Given the description of an element on the screen output the (x, y) to click on. 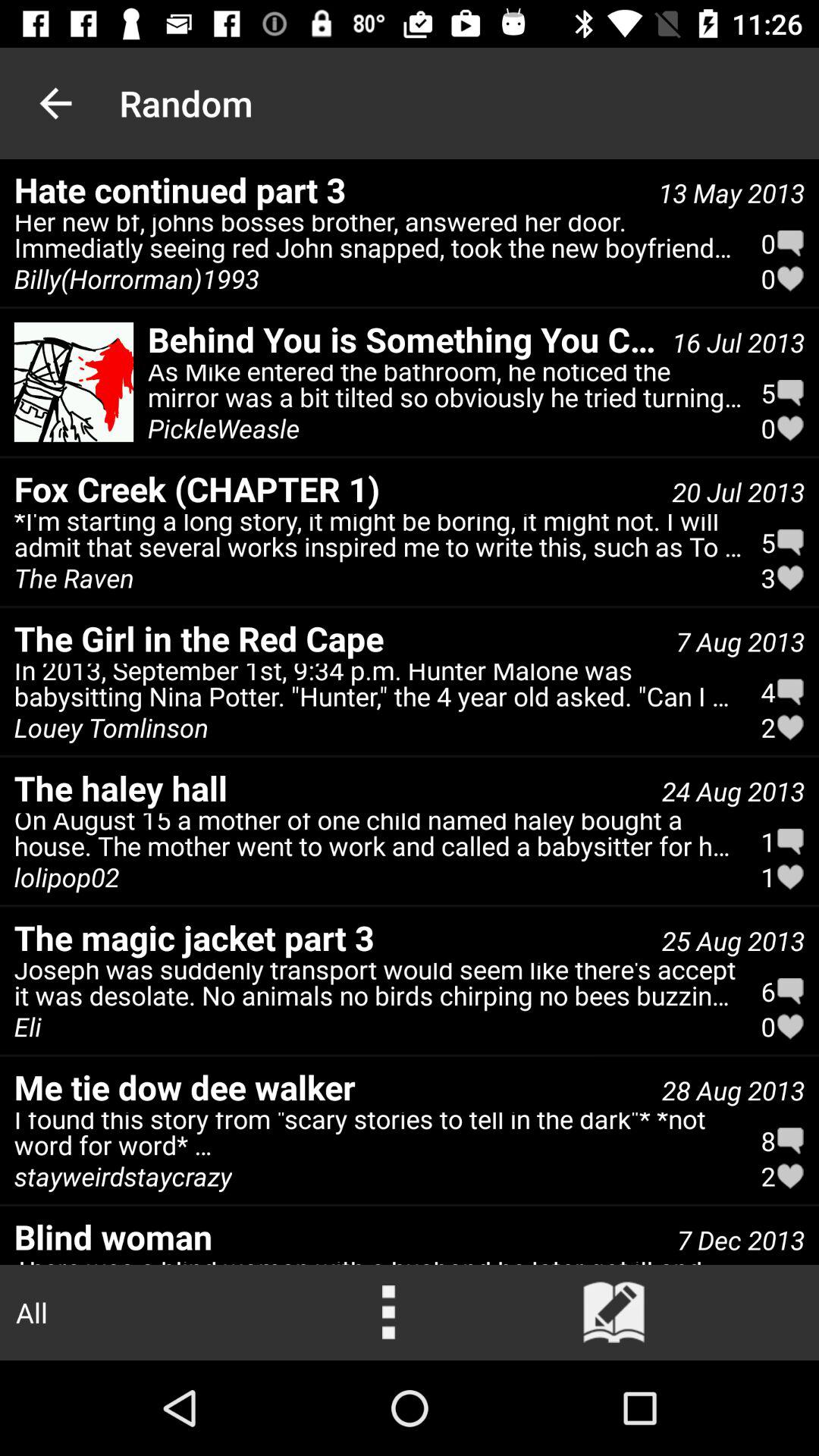
turn on the item below there was a icon (614, 1312)
